Given the description of an element on the screen output the (x, y) to click on. 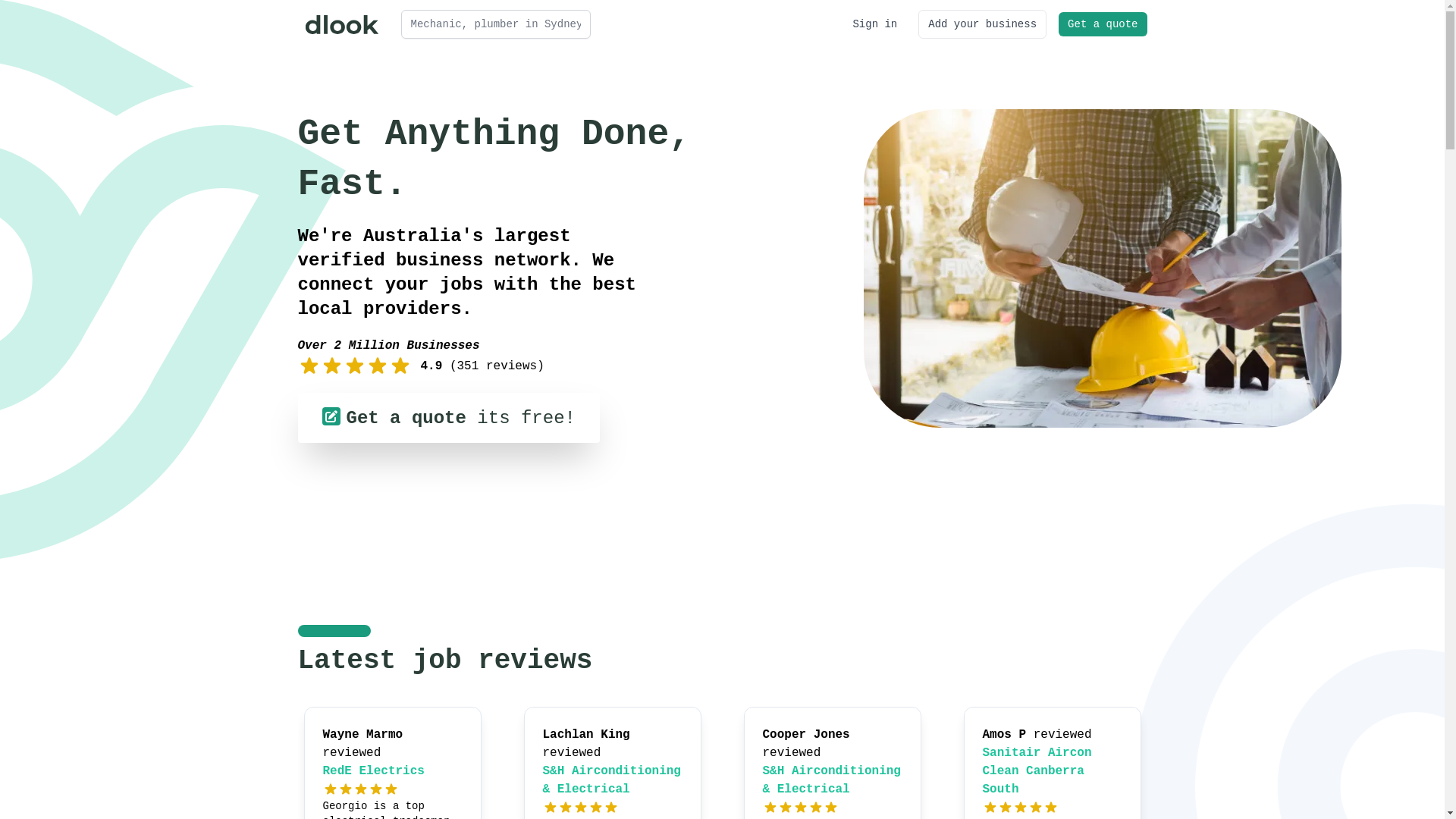
Sign in Element type: text (874, 23)
Get a quote its free! Element type: text (448, 417)
S&H Airconditioning & Electrical Element type: text (831, 780)
RedE Electrics Element type: text (373, 771)
S&H Airconditioning & Electrical Element type: text (611, 780)
Get a quote Element type: text (1102, 24)
Add your business Element type: text (982, 23)
Sanitair Aircon Clean Canberra South Element type: text (1037, 771)
